Given the description of an element on the screen output the (x, y) to click on. 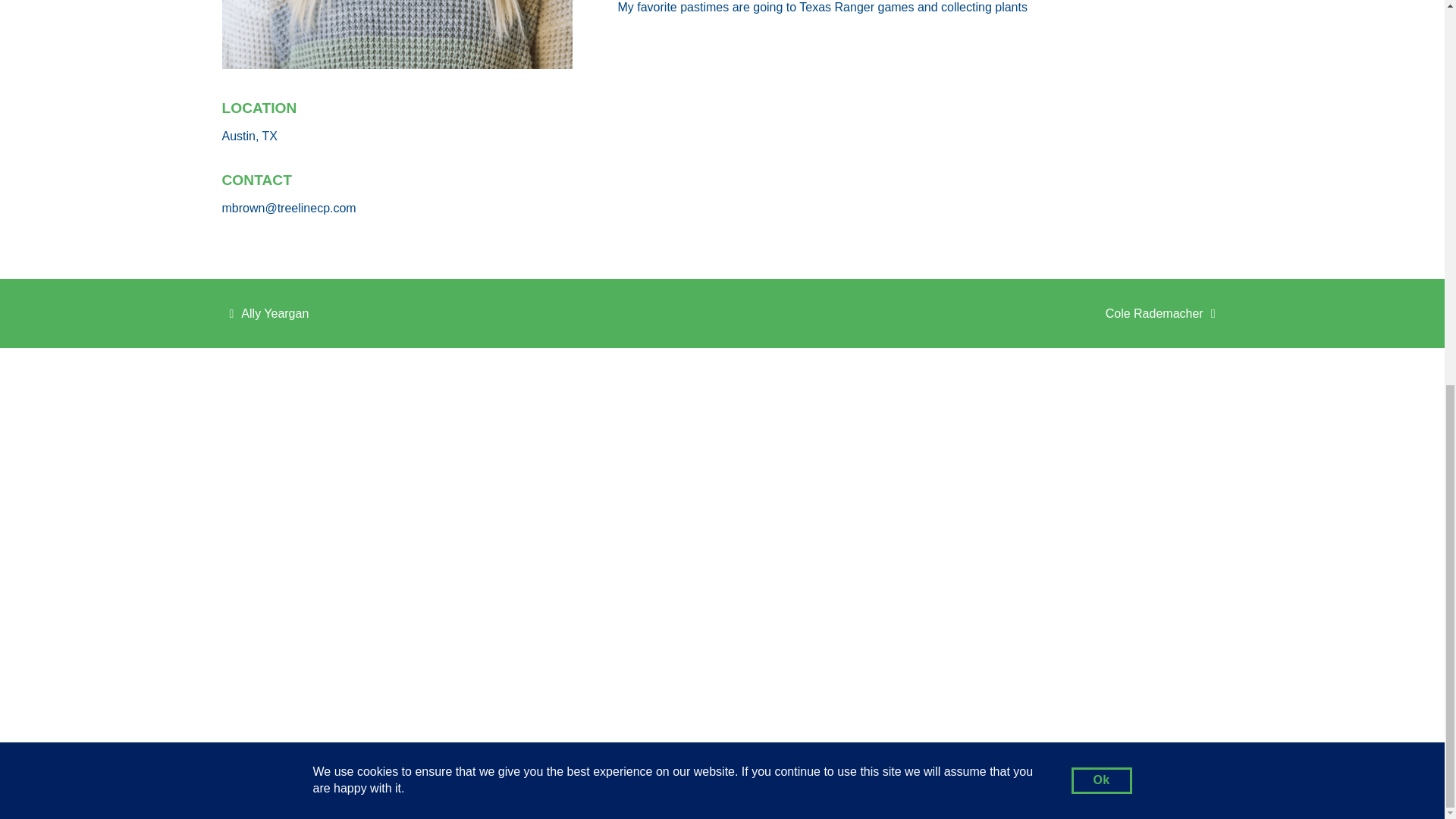
Ok (1100, 144)
Tree Line Capital Partners (319, 781)
Privacy Policy (1049, 781)
Sitemap (1108, 781)
Site By Razorfrog (469, 313)
